Given the description of an element on the screen output the (x, y) to click on. 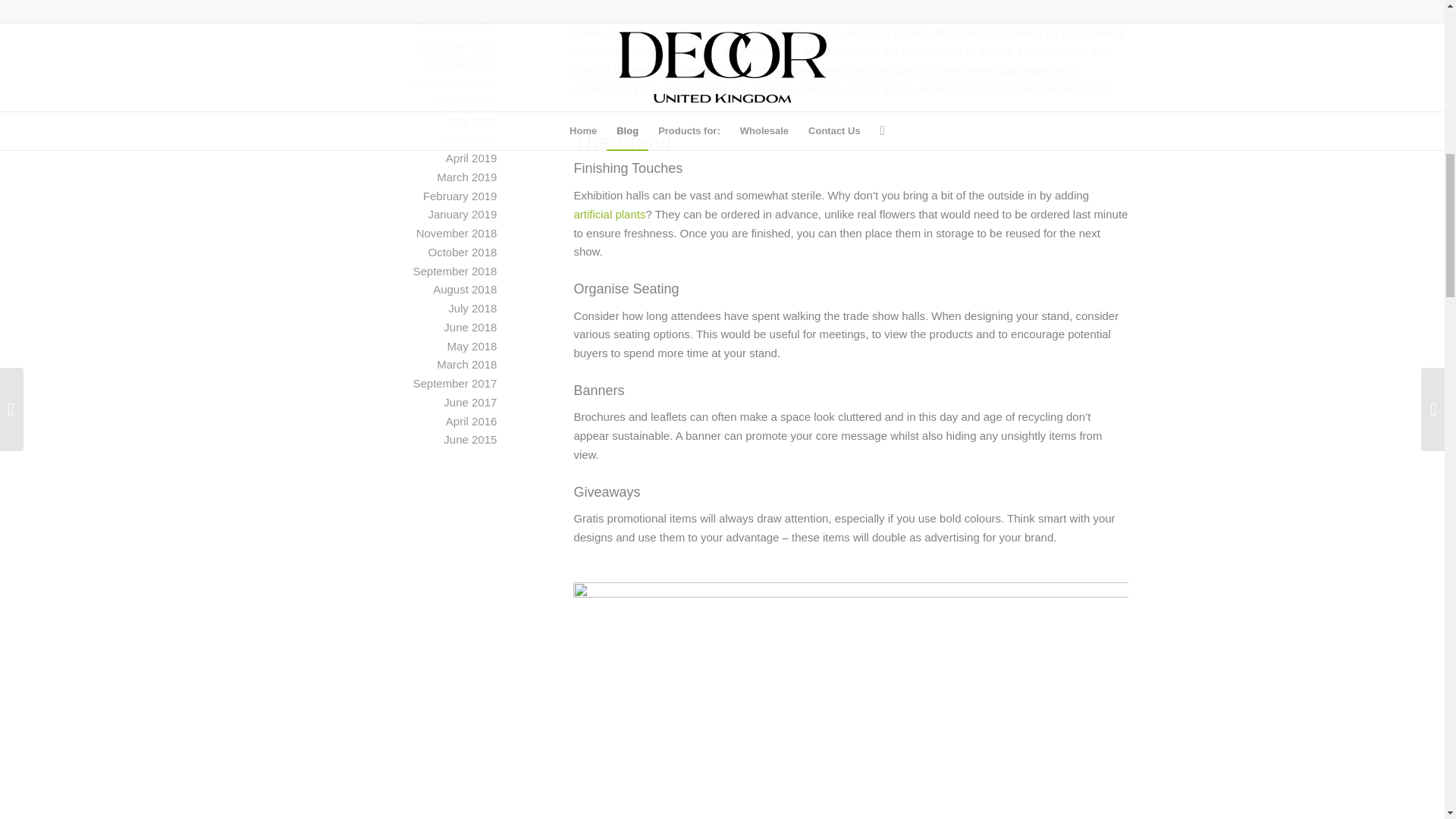
artificial plants (609, 214)
